Given the description of an element on the screen output the (x, y) to click on. 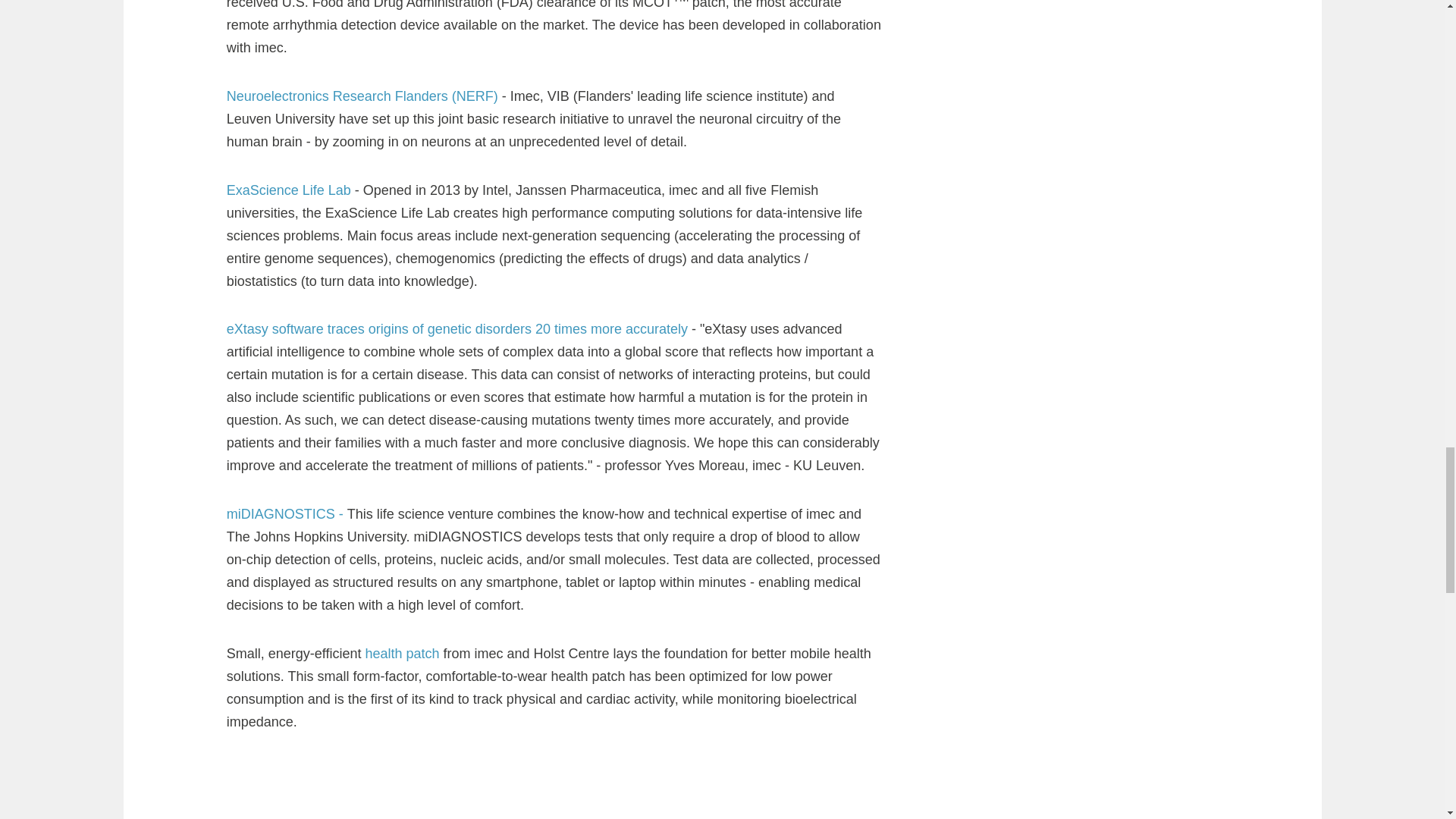
X (1179, 551)
Discover more (310, 769)
miDIAGNOSTICS -  (287, 209)
Facebook (1149, 551)
health patch  (403, 349)
LinkedIn (1208, 551)
CONTACT US (1058, 647)
